Given the description of an element on the screen output the (x, y) to click on. 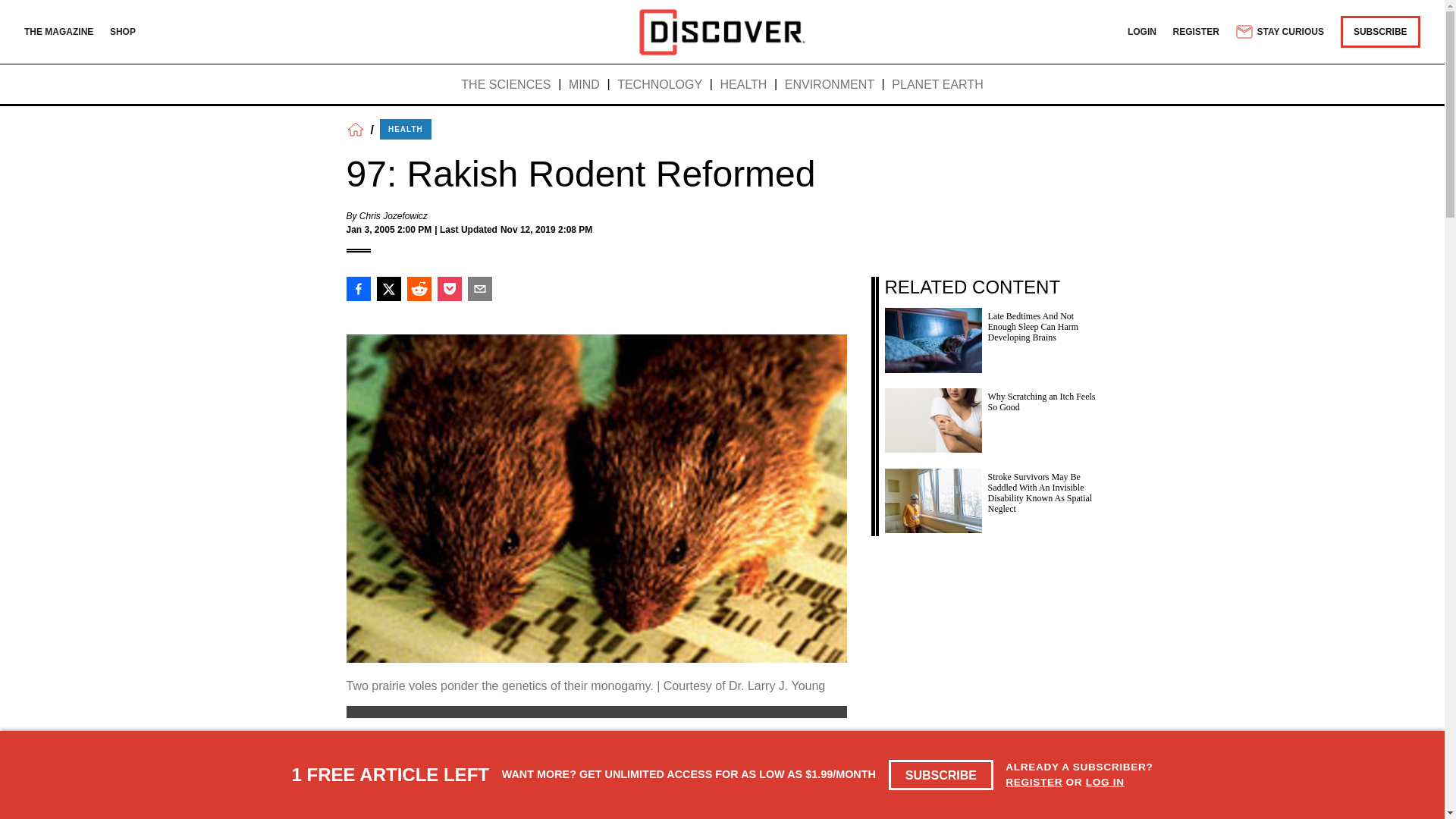
HEALTH (743, 84)
SUBSCRIBE (1380, 31)
THE SCIENCES (505, 84)
REGISTER (1196, 31)
SHOP (122, 31)
LOGIN (1141, 31)
Audio Article (590, 809)
LOG IN (1105, 781)
STAY CURIOUS (1278, 31)
REGISTER (1034, 781)
Why Scratching an Itch Feels So Good (990, 415)
TECHNOLOGY (659, 84)
HEALTH (405, 128)
PLANET EARTH (936, 84)
